Given the description of an element on the screen output the (x, y) to click on. 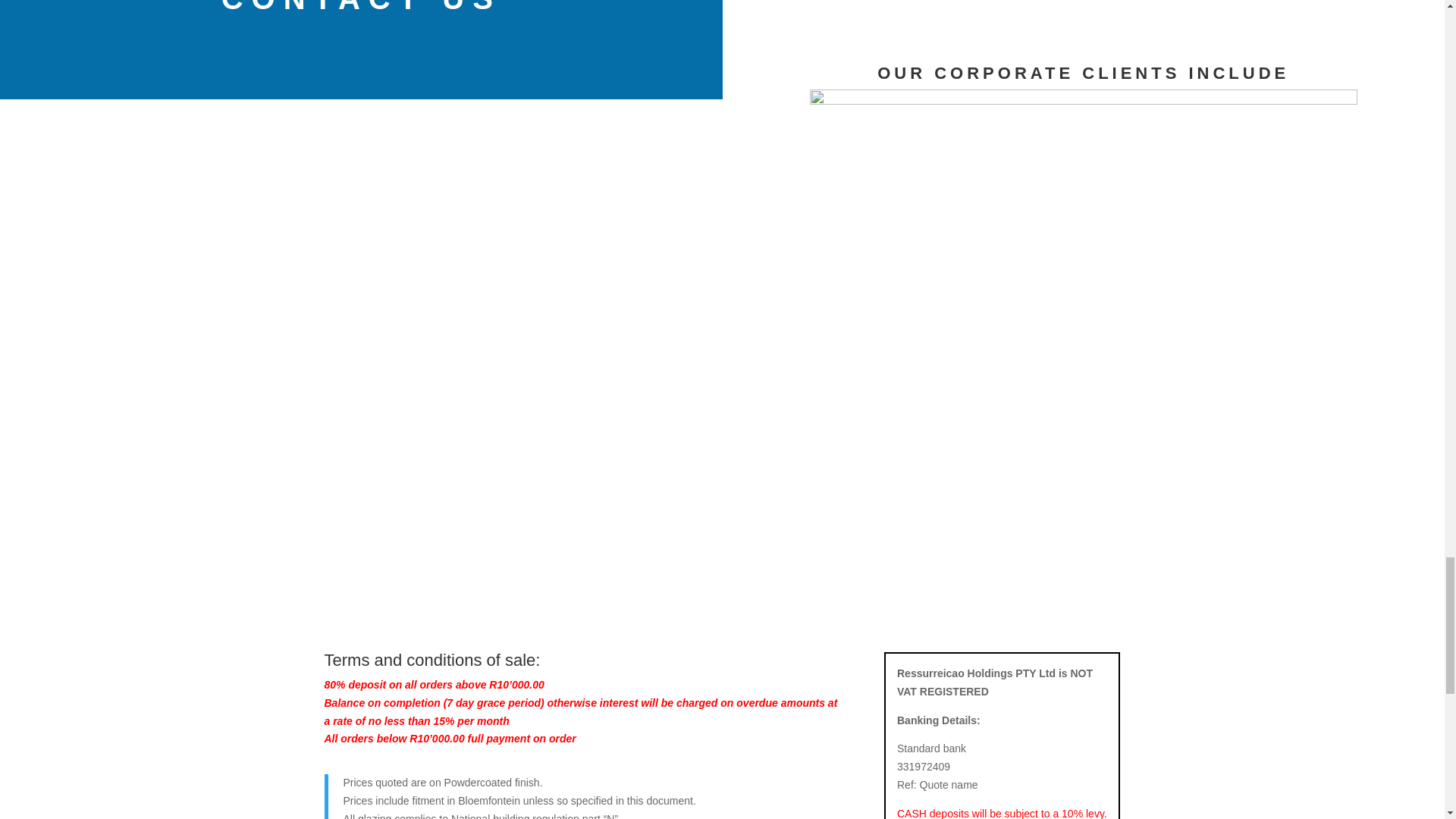
OUR CORPORATE CLIENTS INCLUDE (1082, 77)
